Given the description of an element on the screen output the (x, y) to click on. 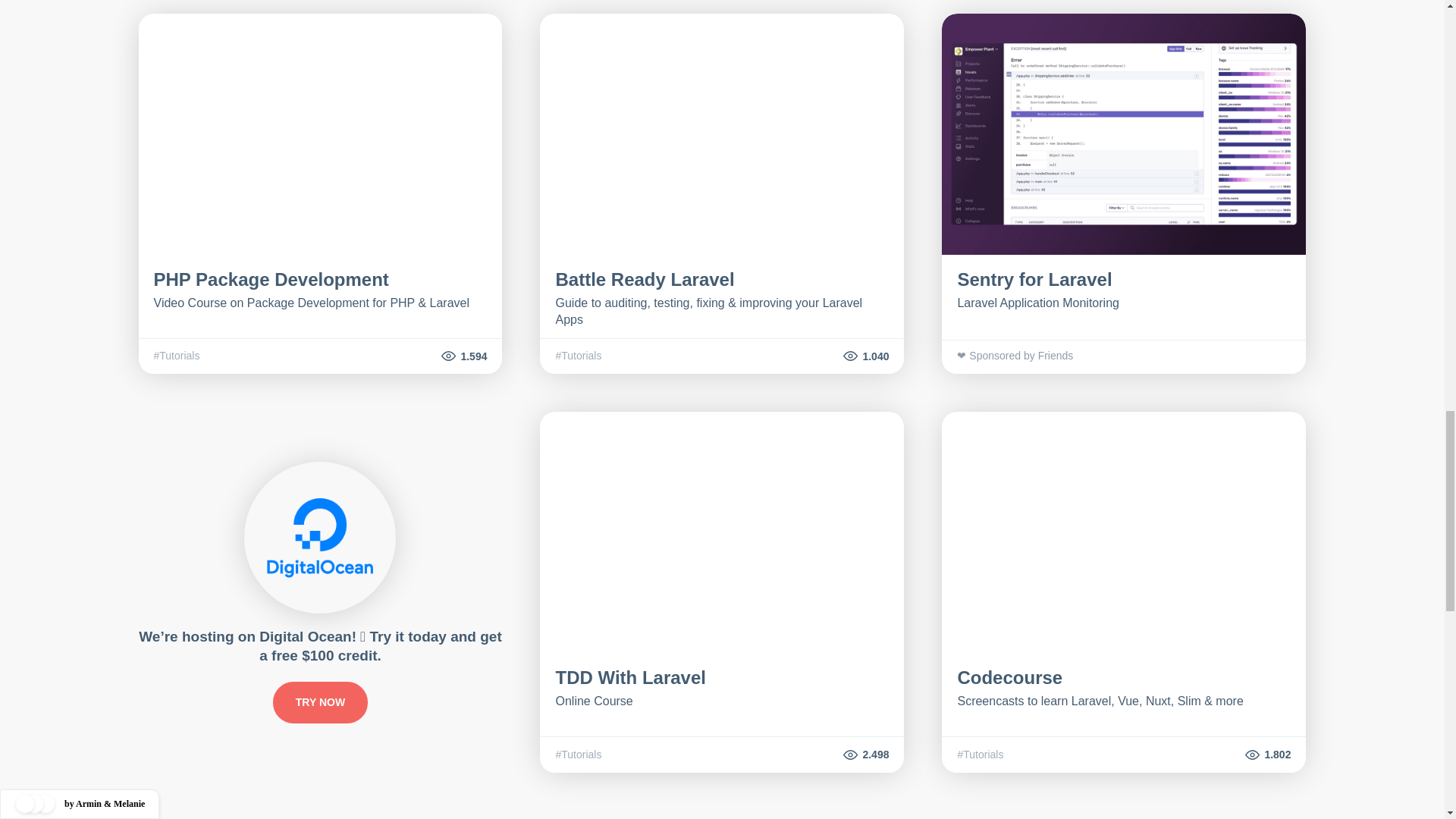
PHP Package Development (270, 279)
Codecourse (1009, 677)
TDD With Laravel (629, 677)
Sentry for Laravel (1034, 279)
TRY NOW (320, 702)
Battle Ready Laravel (643, 279)
